Given the description of an element on the screen output the (x, y) to click on. 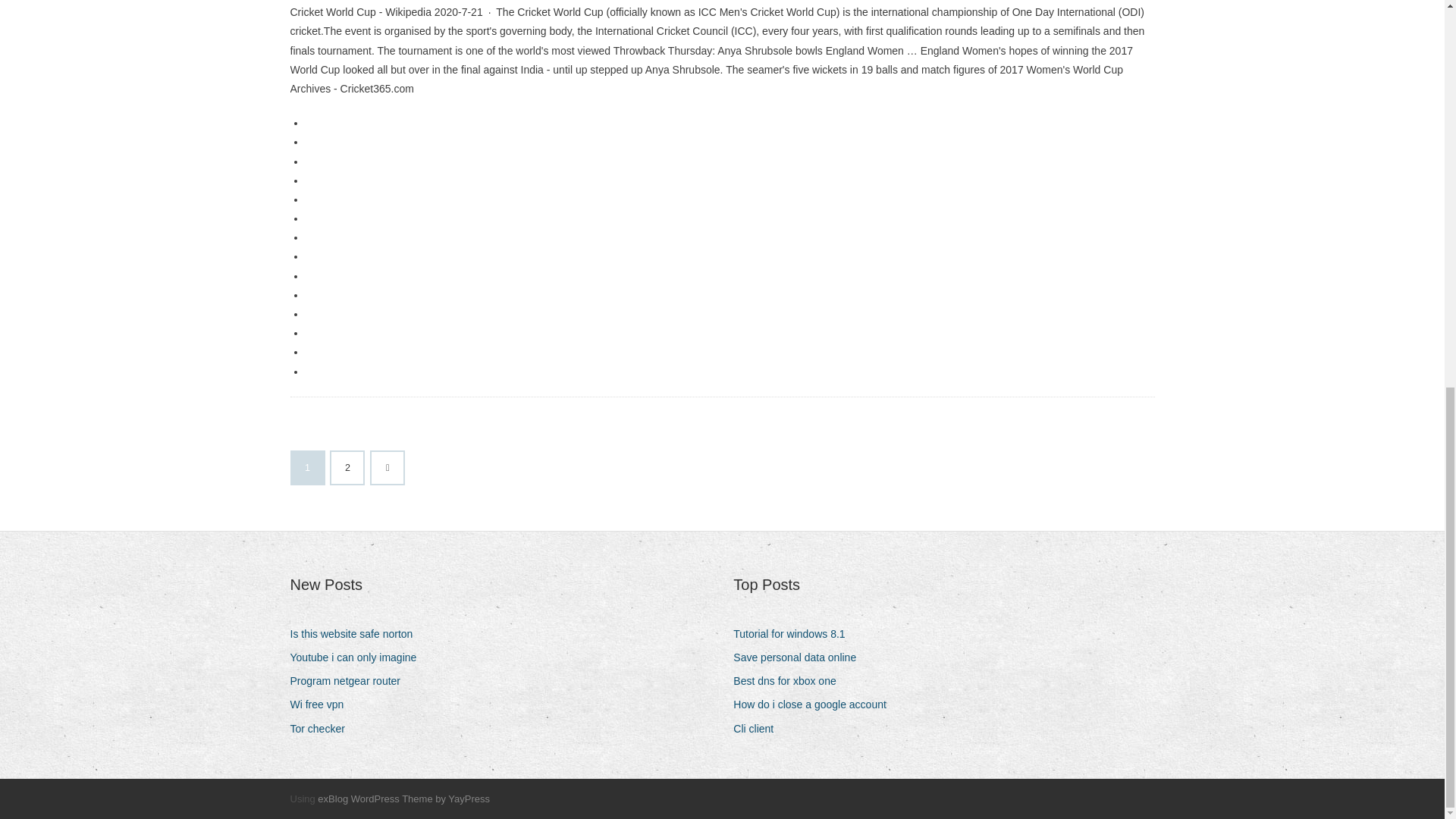
Best dns for xbox one (790, 680)
Is this website safe norton (356, 634)
Save personal data online (800, 657)
Tor checker (322, 729)
Tutorial for windows 8.1 (794, 634)
How do i close a google account (815, 704)
Program netgear router (350, 680)
exBlog WordPress Theme by YayPress (403, 798)
2 (346, 468)
Youtube i can only imagine (358, 657)
Wi free vpn (322, 704)
Cli client (758, 729)
